Given the description of an element on the screen output the (x, y) to click on. 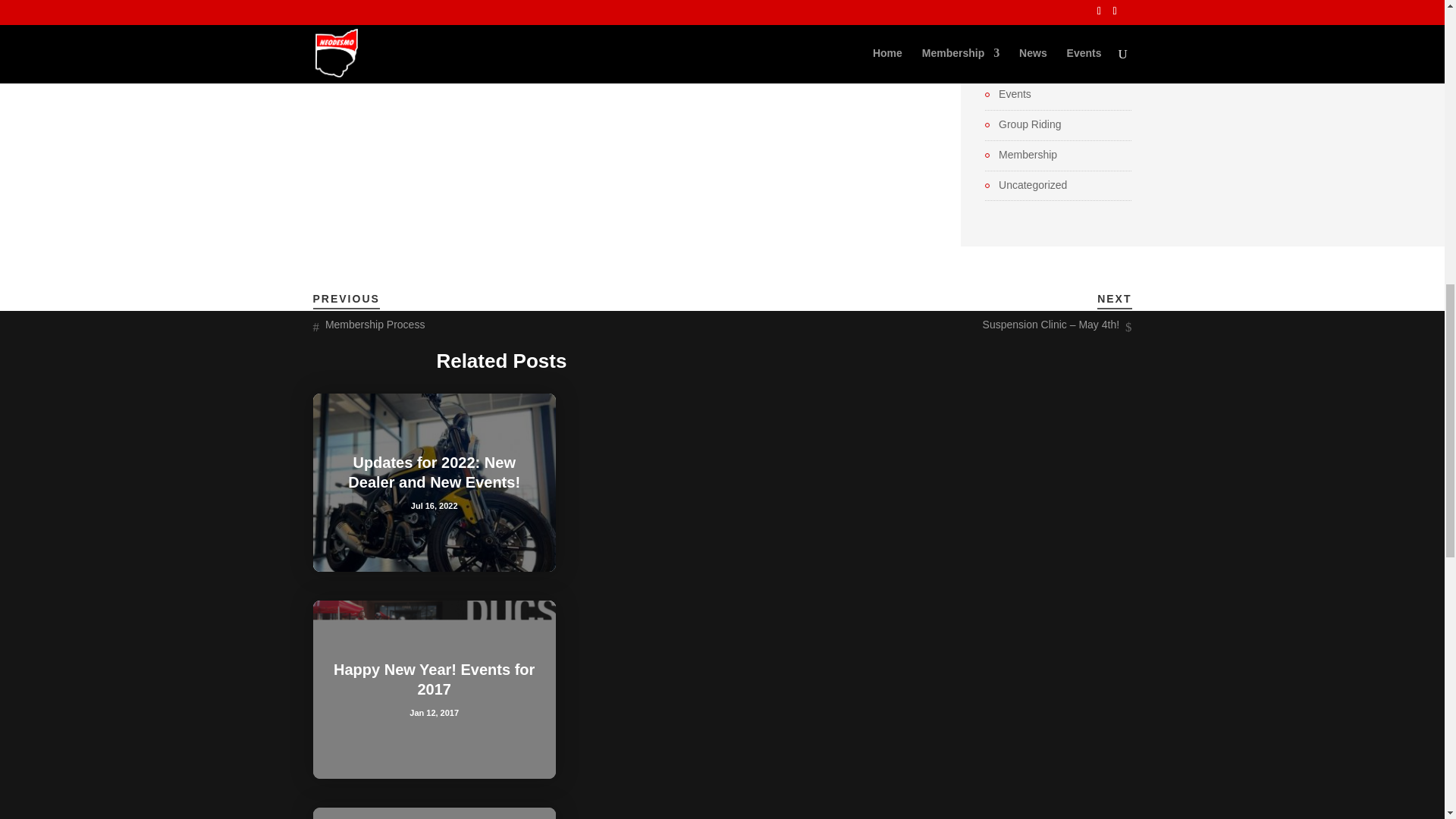
Membership (1021, 155)
Club Mangia (1021, 34)
Club Gear (1015, 6)
Membership Process (374, 324)
Uncategorized (1026, 185)
Events (1007, 94)
View Larger Map (613, 4)
Group Riding (1023, 125)
Club News (1017, 64)
